Given the description of an element on the screen output the (x, y) to click on. 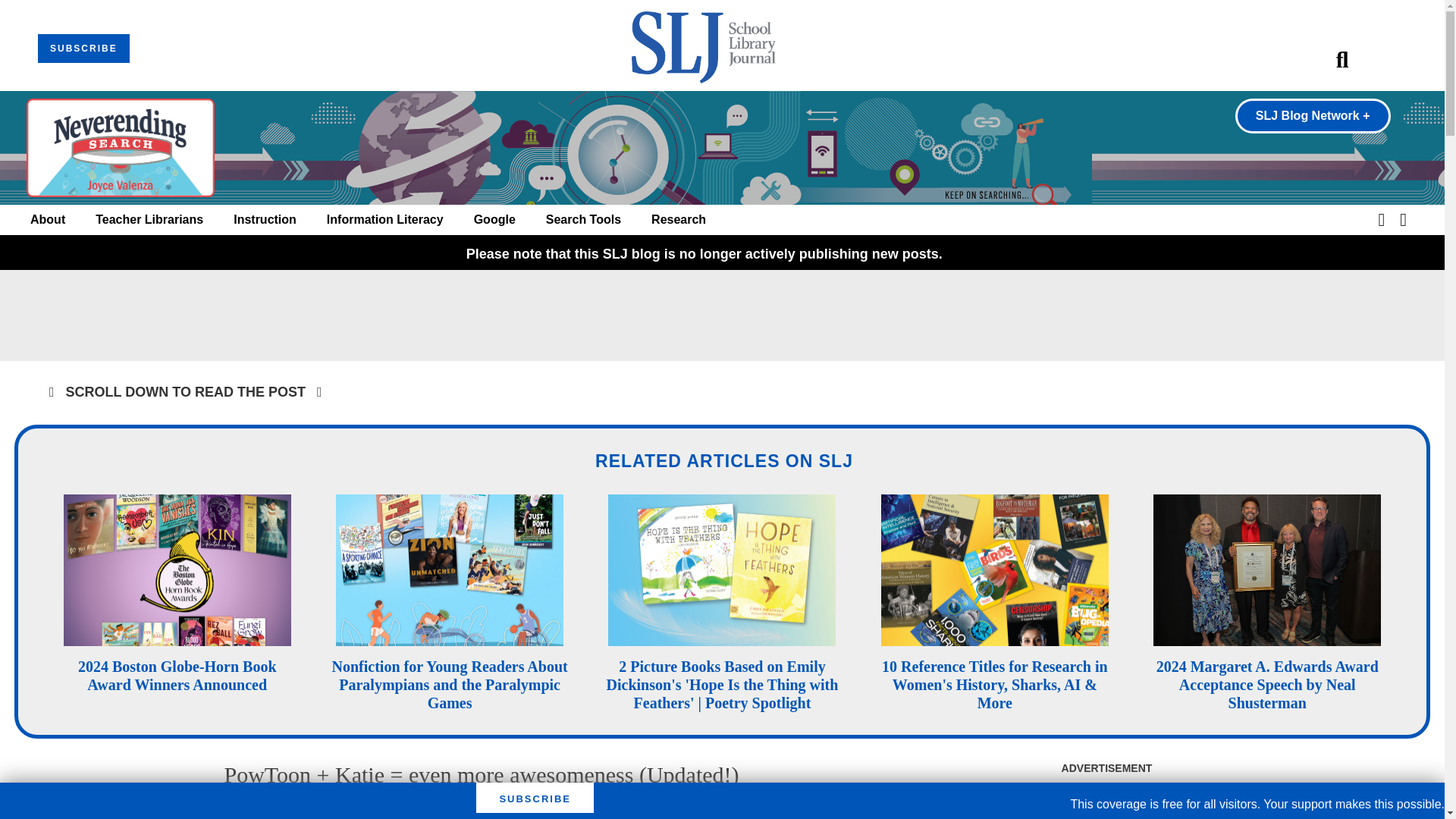
About (47, 219)
Joyce Valenza (352, 810)
Information Literacy (385, 219)
3rd party ad content (1106, 800)
2024 Boston Globe-Horn Book Award Winners Announced (177, 675)
Google (494, 219)
Instruction (264, 219)
Research (678, 219)
SUBSCRIBE (83, 48)
3rd party ad content (721, 315)
Teacher Librarians (149, 219)
Search Tools (583, 219)
